Given the description of an element on the screen output the (x, y) to click on. 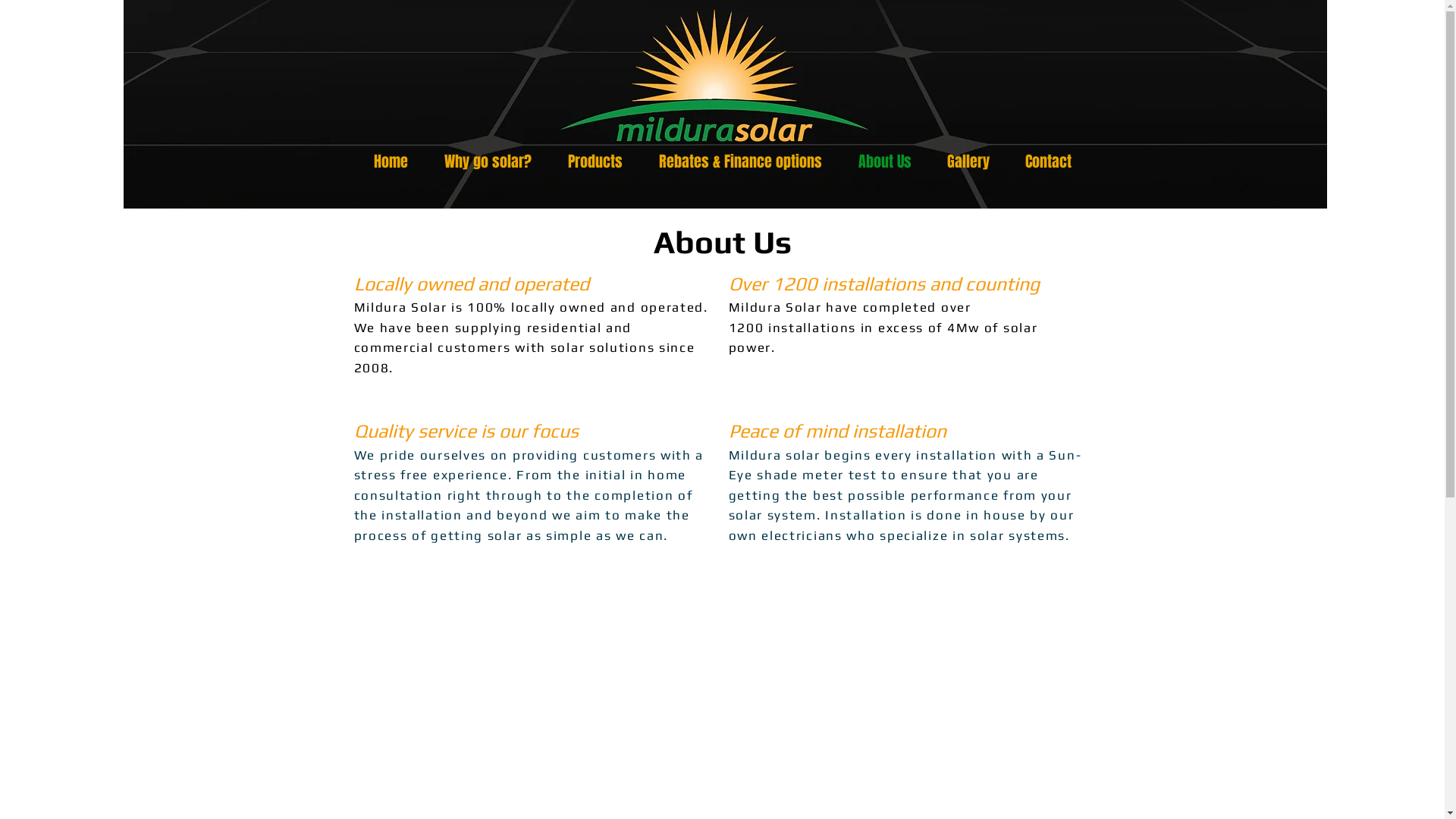
Rebates & Finance options Element type: text (739, 161)
About Us Element type: text (884, 161)
Contact Element type: text (1047, 161)
Gallery Element type: text (968, 161)
Products Element type: text (594, 161)
Why go solar? Element type: text (487, 161)
Home Element type: text (389, 161)
